Given the description of an element on the screen output the (x, y) to click on. 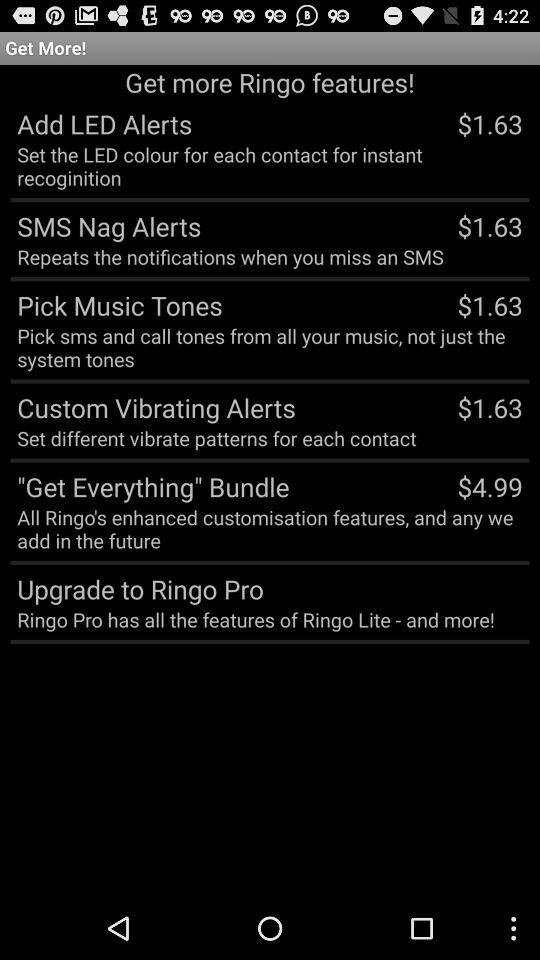
select set different vibrate (216, 437)
